Given the description of an element on the screen output the (x, y) to click on. 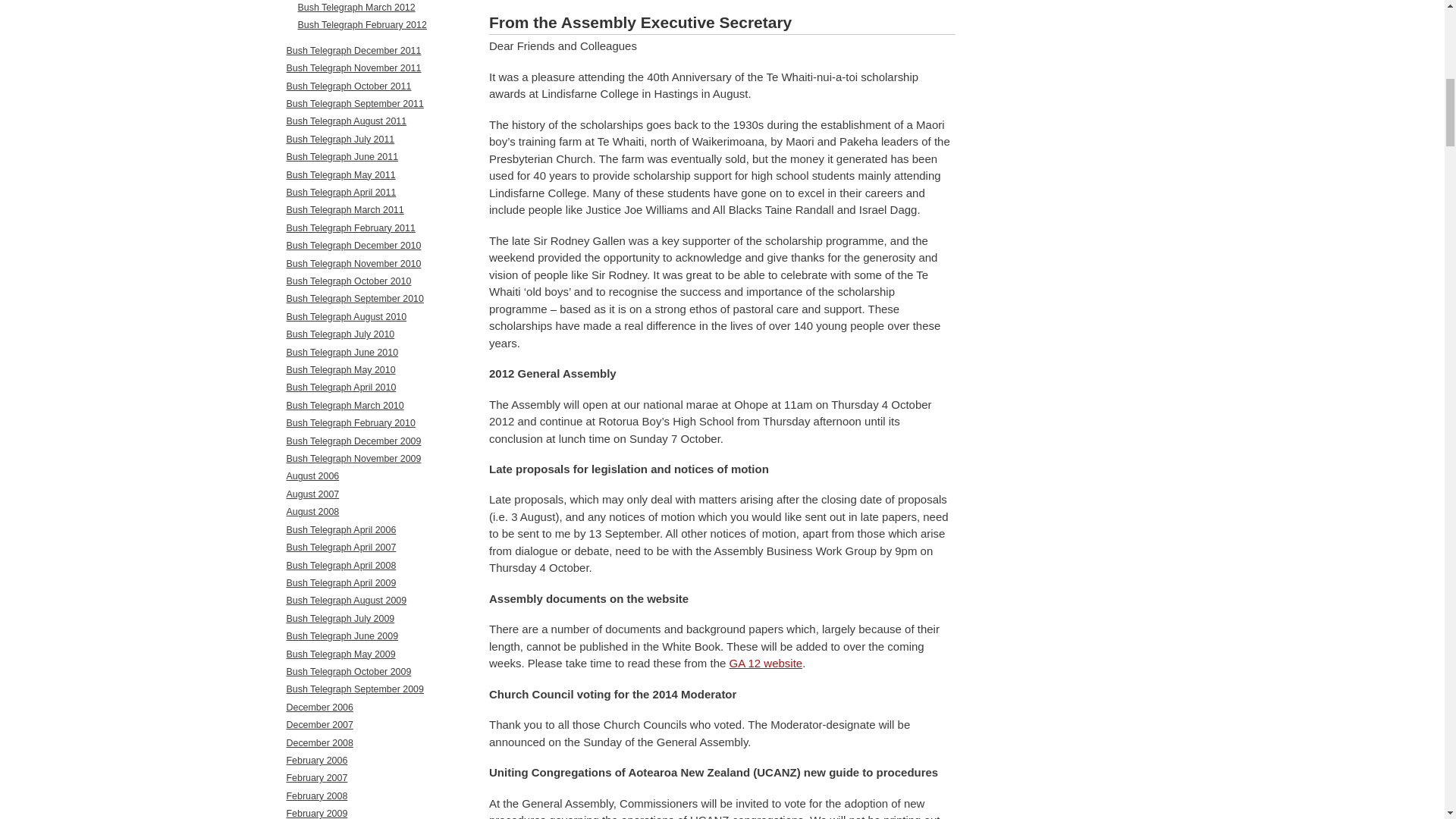
GA 12 website (766, 662)
